Given the description of an element on the screen output the (x, y) to click on. 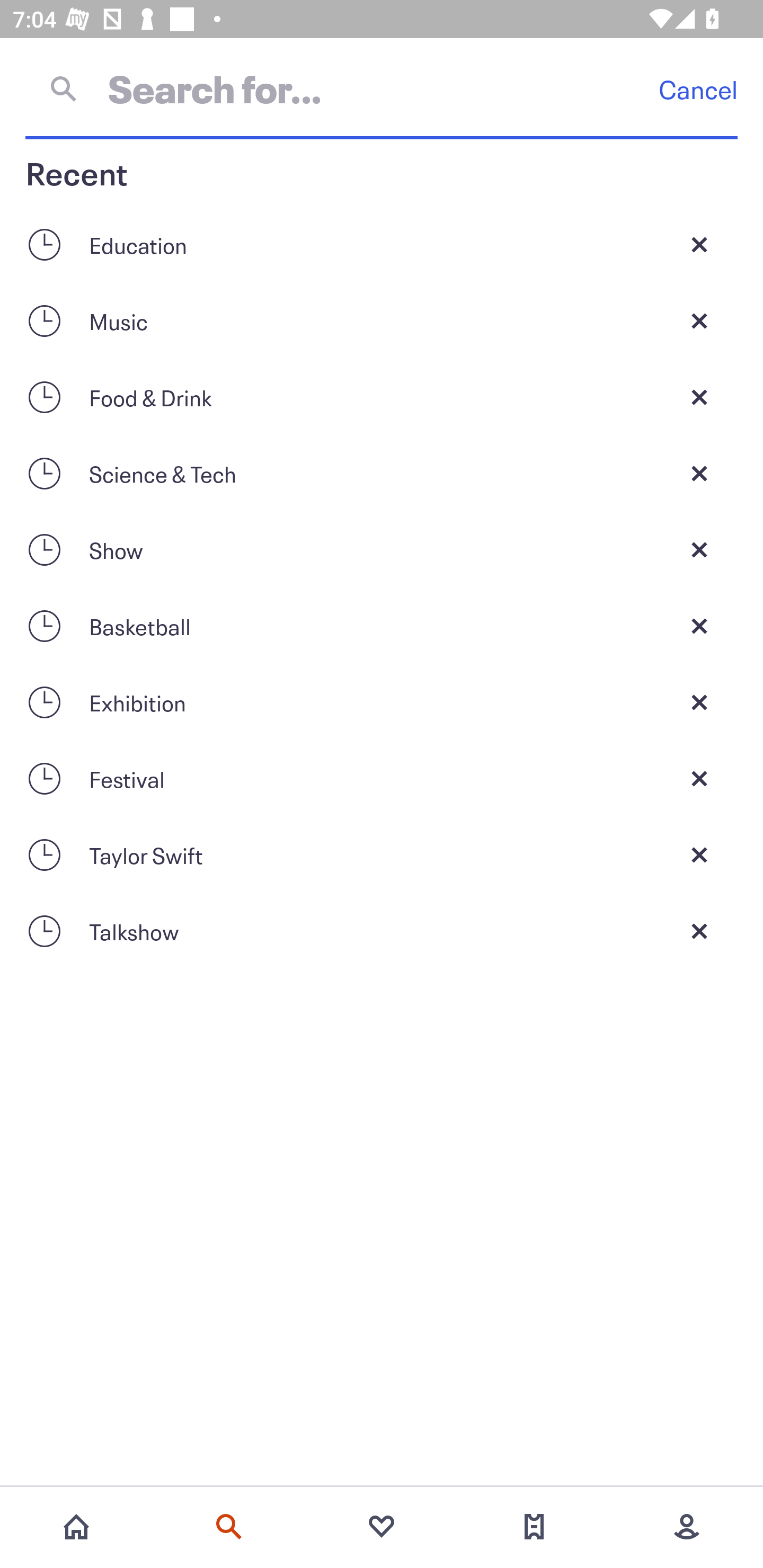
Cancel Search for… (381, 88)
Cancel (697, 89)
Education Close current screen (381, 244)
Close current screen (699, 244)
Music Close current screen (381, 320)
Close current screen (699, 320)
Food & Drink Close current screen (381, 397)
Close current screen (699, 397)
Science & Tech Close current screen (381, 473)
Close current screen (699, 473)
Show Close current screen (381, 549)
Close current screen (699, 549)
Basketball Close current screen (381, 626)
Close current screen (699, 626)
Exhibition Close current screen (381, 702)
Close current screen (699, 702)
Festival Close current screen (381, 778)
Close current screen (699, 778)
Taylor Swift Close current screen (381, 854)
Close current screen (699, 854)
Talkshow Close current screen (381, 931)
Close current screen (699, 931)
Home (76, 1526)
Search events (228, 1526)
Favorites (381, 1526)
Tickets (533, 1526)
More (686, 1526)
